Given the description of an element on the screen output the (x, y) to click on. 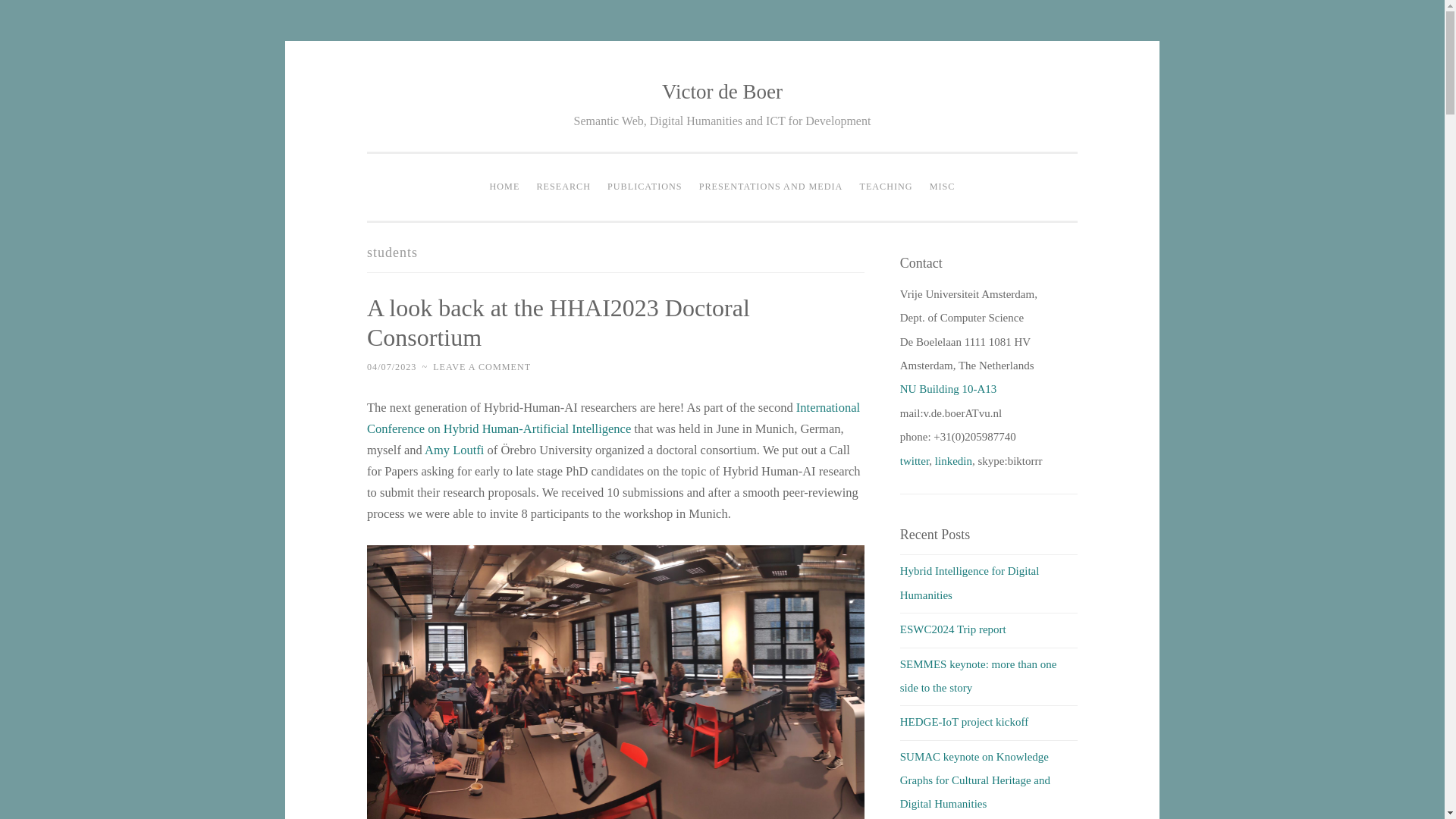
PRESENTATIONS AND MEDIA (771, 186)
MISC (942, 186)
LEAVE A COMMENT (481, 366)
PUBLICATIONS (643, 186)
Amy Loutfi (454, 450)
TEACHING (884, 186)
Victor de Boer (722, 91)
HOME (505, 186)
A look back at the HHAI2023 Doctoral Consortium (557, 322)
RESEARCH (562, 186)
